Given the description of an element on the screen output the (x, y) to click on. 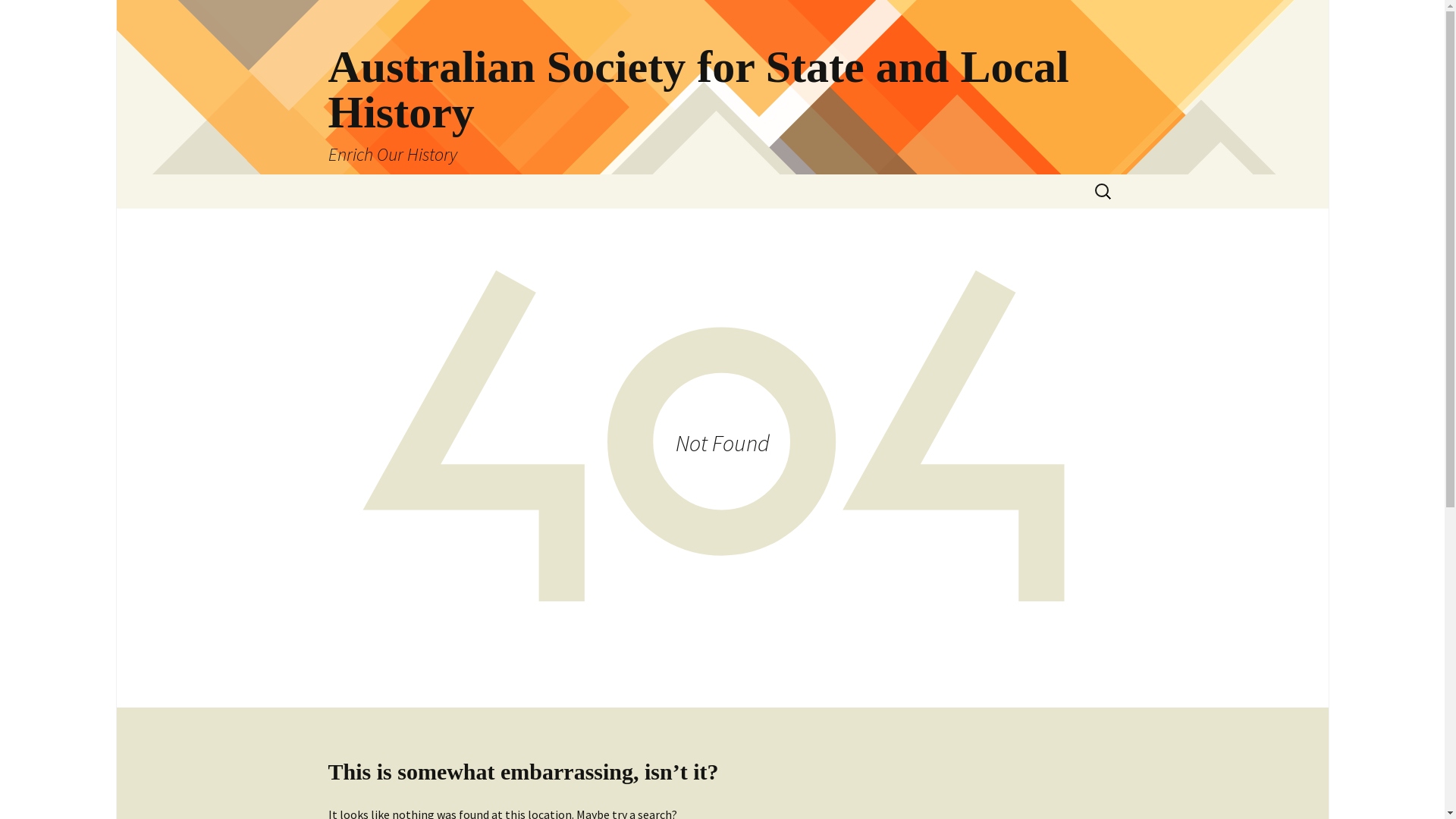
Search Element type: text (18, 16)
Search Element type: text (35, 16)
Skip to content Element type: text (312, 173)
